Given the description of an element on the screen output the (x, y) to click on. 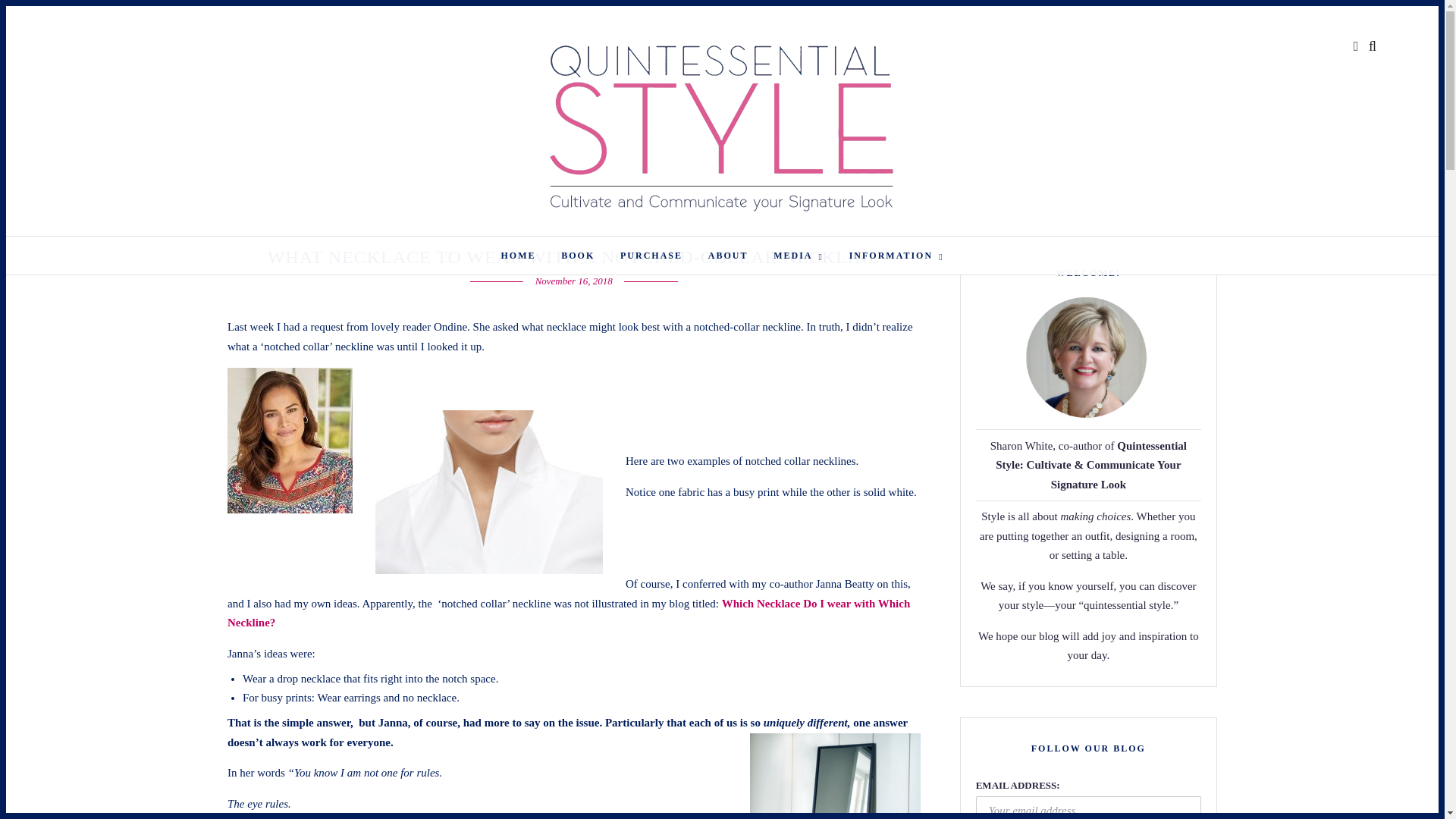
Which Necklace Do I wear with Which Neckline? (568, 613)
PURCHASE (651, 255)
HOME (518, 255)
INFORMATION (896, 255)
MEDIA (797, 255)
BOOK (577, 255)
ABOUT (728, 255)
